Given the description of an element on the screen output the (x, y) to click on. 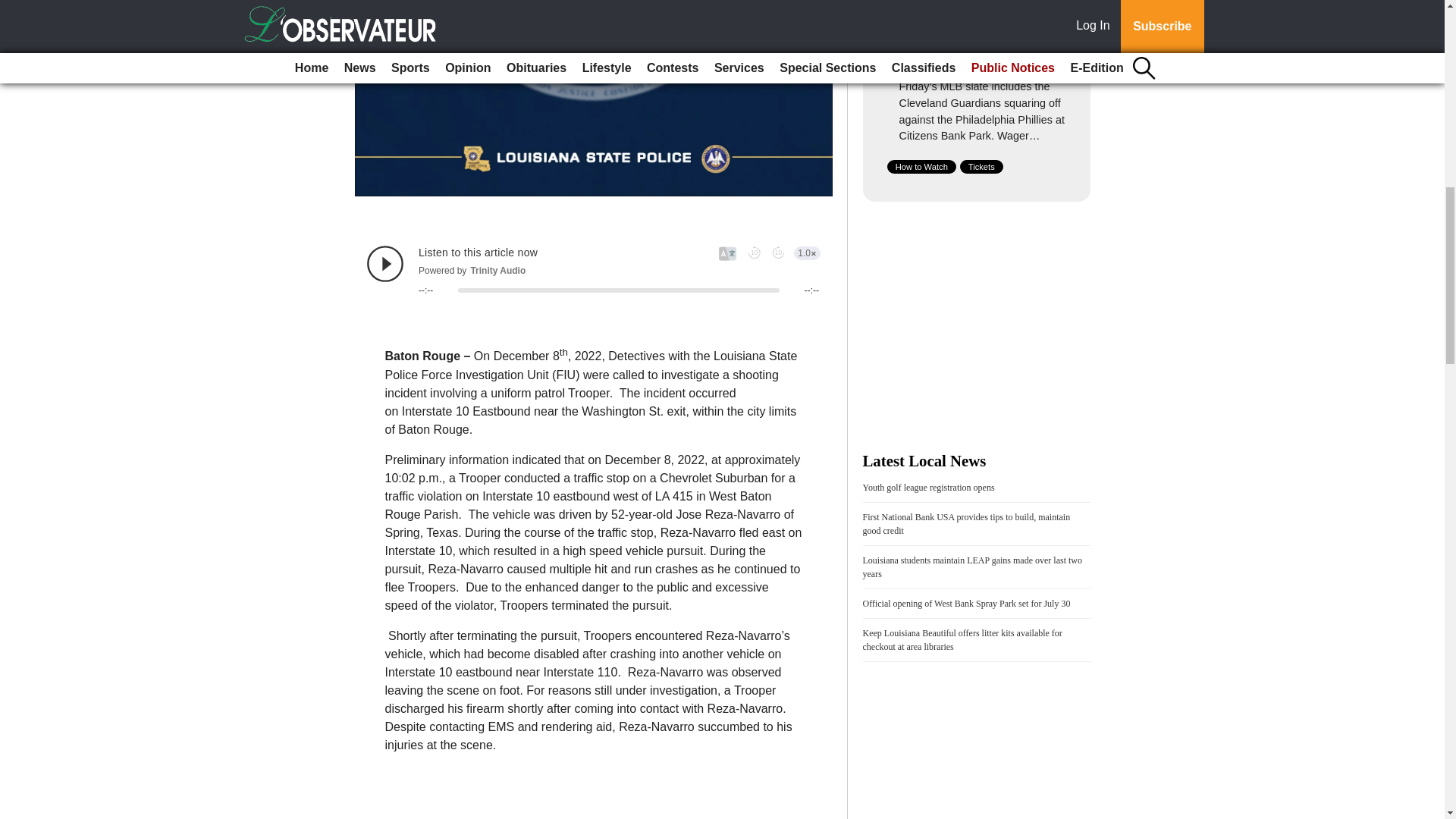
How to Watch (921, 166)
Youth golf league registration opens (928, 487)
Tickets (981, 166)
Trinity Audio Player (592, 270)
